Given the description of an element on the screen output the (x, y) to click on. 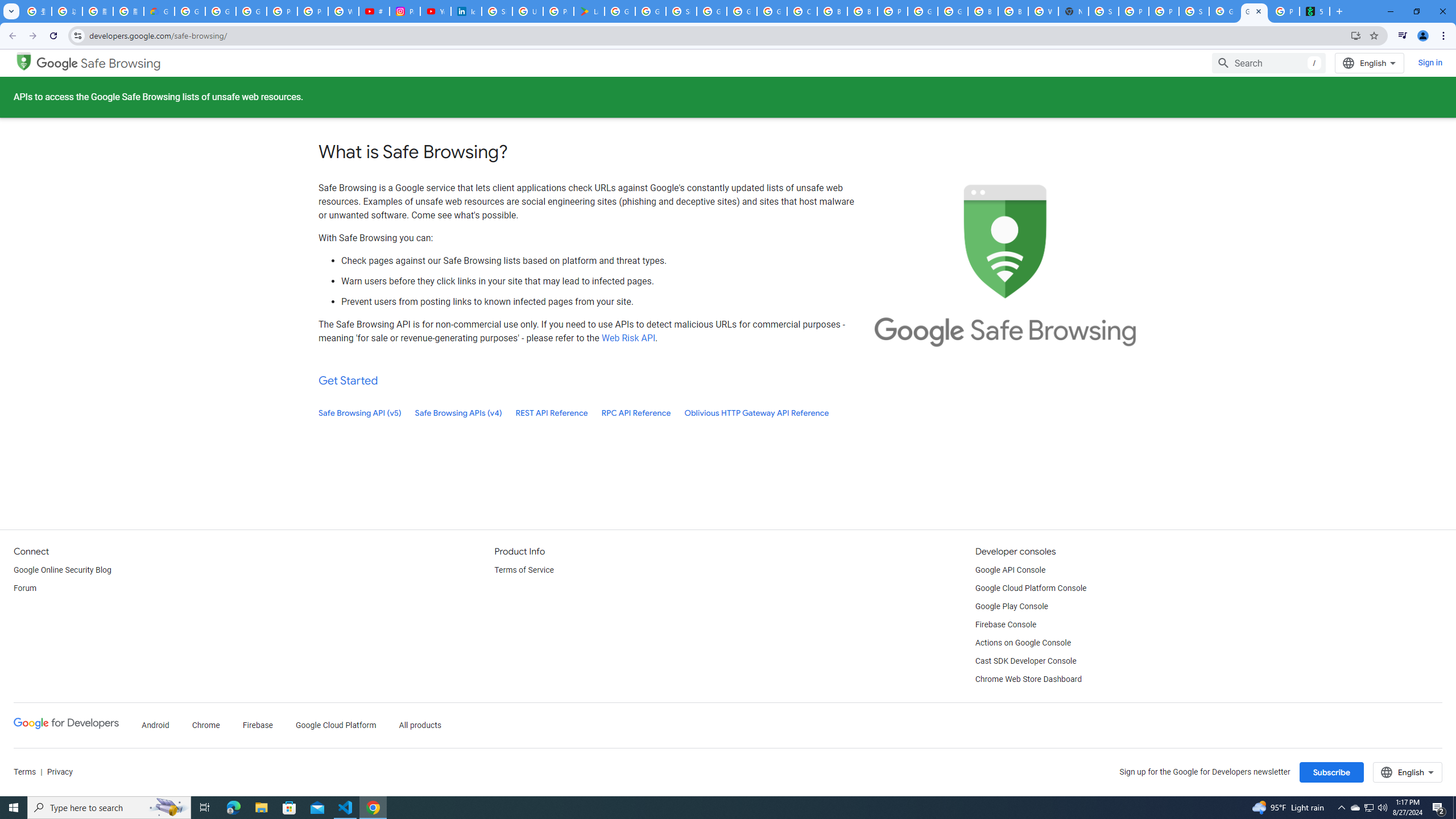
Sign in - Google Accounts (496, 11)
Google Workspace - Specific Terms (650, 11)
Identity verification via Persona | LinkedIn Help (465, 11)
Control your music, videos, and more (1402, 35)
Terms (24, 772)
Browse Chrome as a guest - Computer - Google Chrome Help (832, 11)
Google Online Security Blog (62, 570)
Privacy (59, 772)
Google Developers (66, 725)
